Given the description of an element on the screen output the (x, y) to click on. 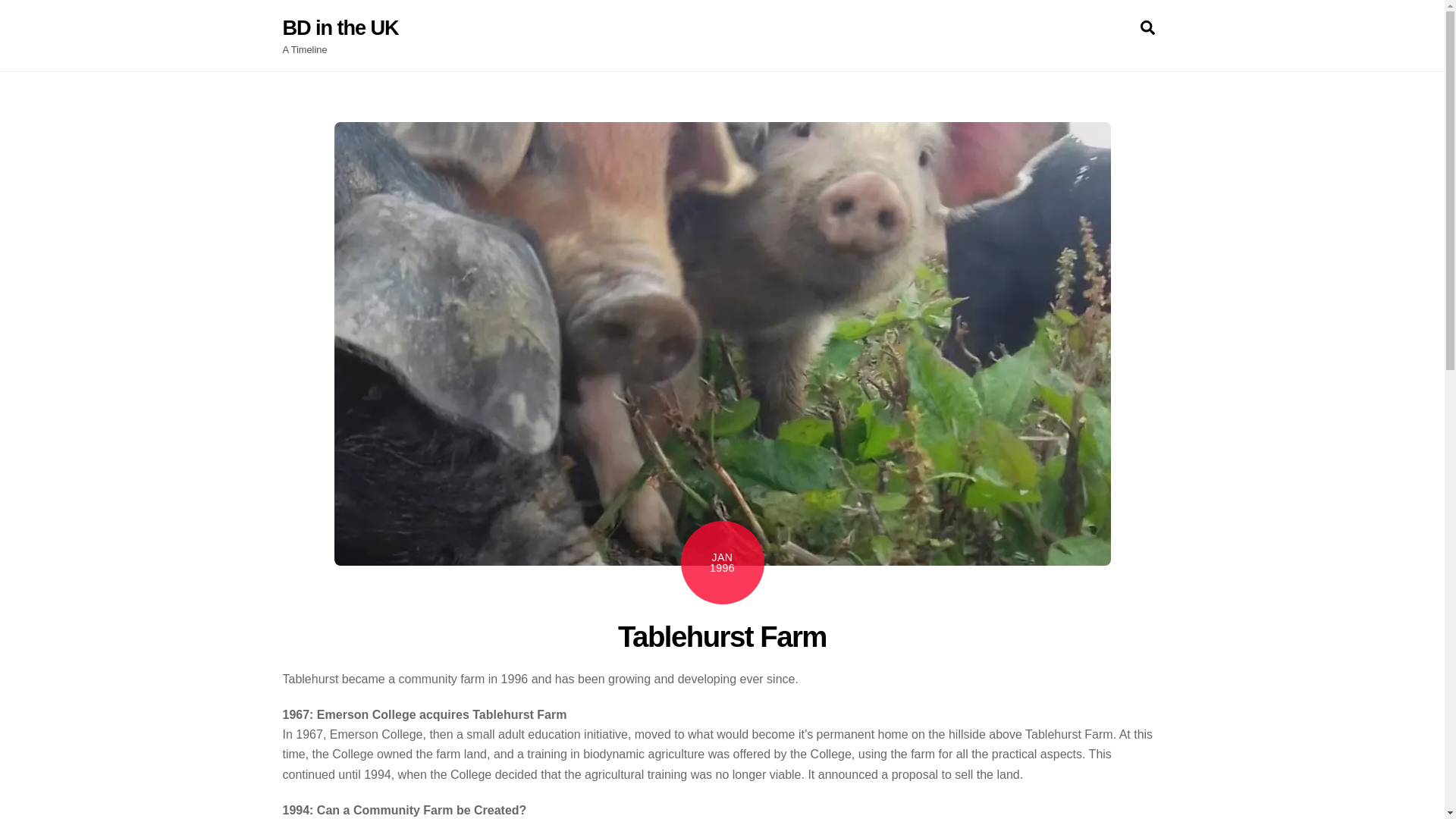
BD in the UK (339, 27)
BD in the UK (339, 27)
Search (721, 27)
Tablehurst Farm (722, 635)
Search (1146, 27)
